Given the description of an element on the screen output the (x, y) to click on. 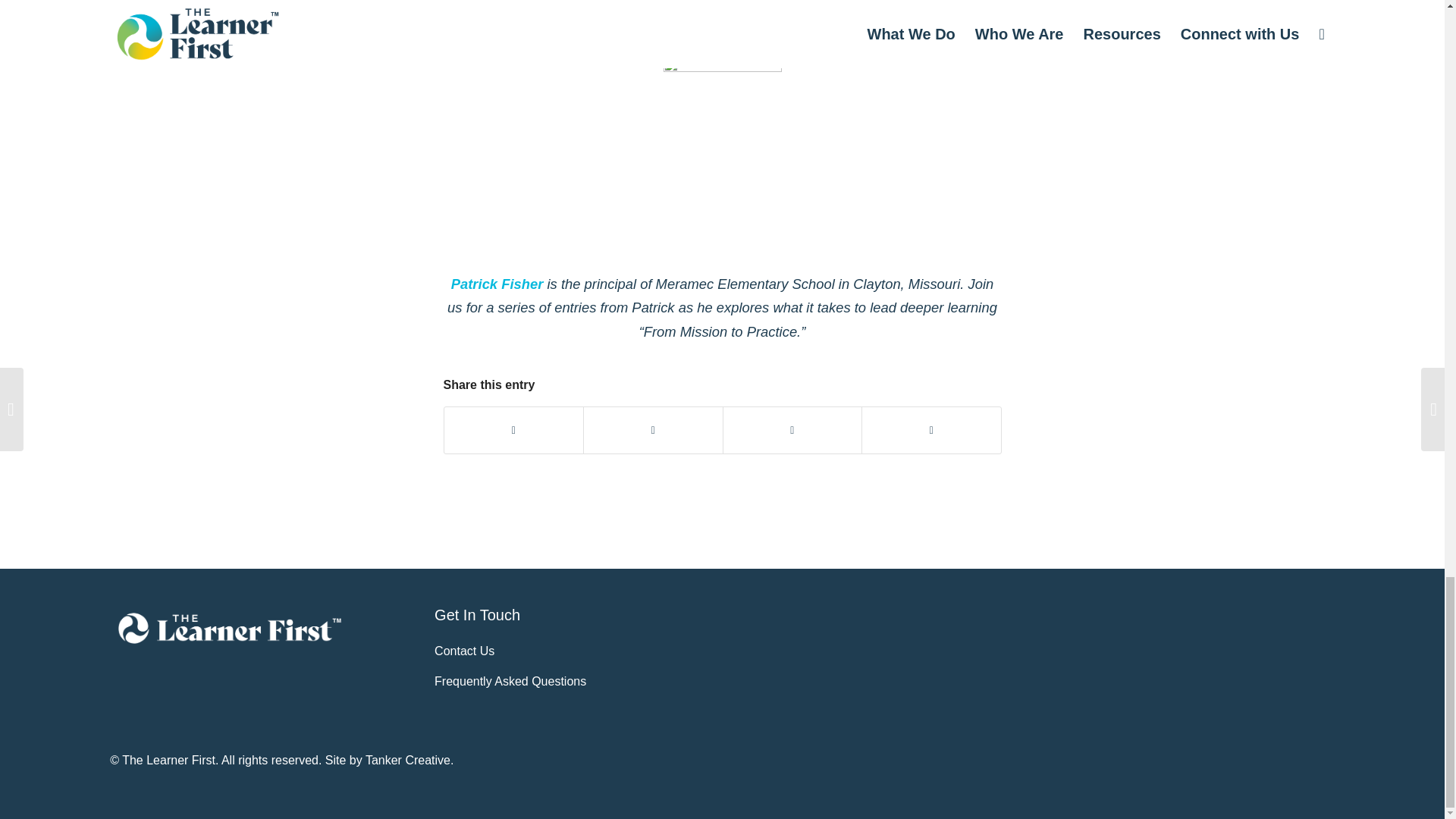
Tanker Creative (407, 759)
Contact Us (464, 650)
Frequently Asked Questions (509, 680)
Learner-First-LOGO-D-RGB - Footer (229, 628)
